Given the description of an element on the screen output the (x, y) to click on. 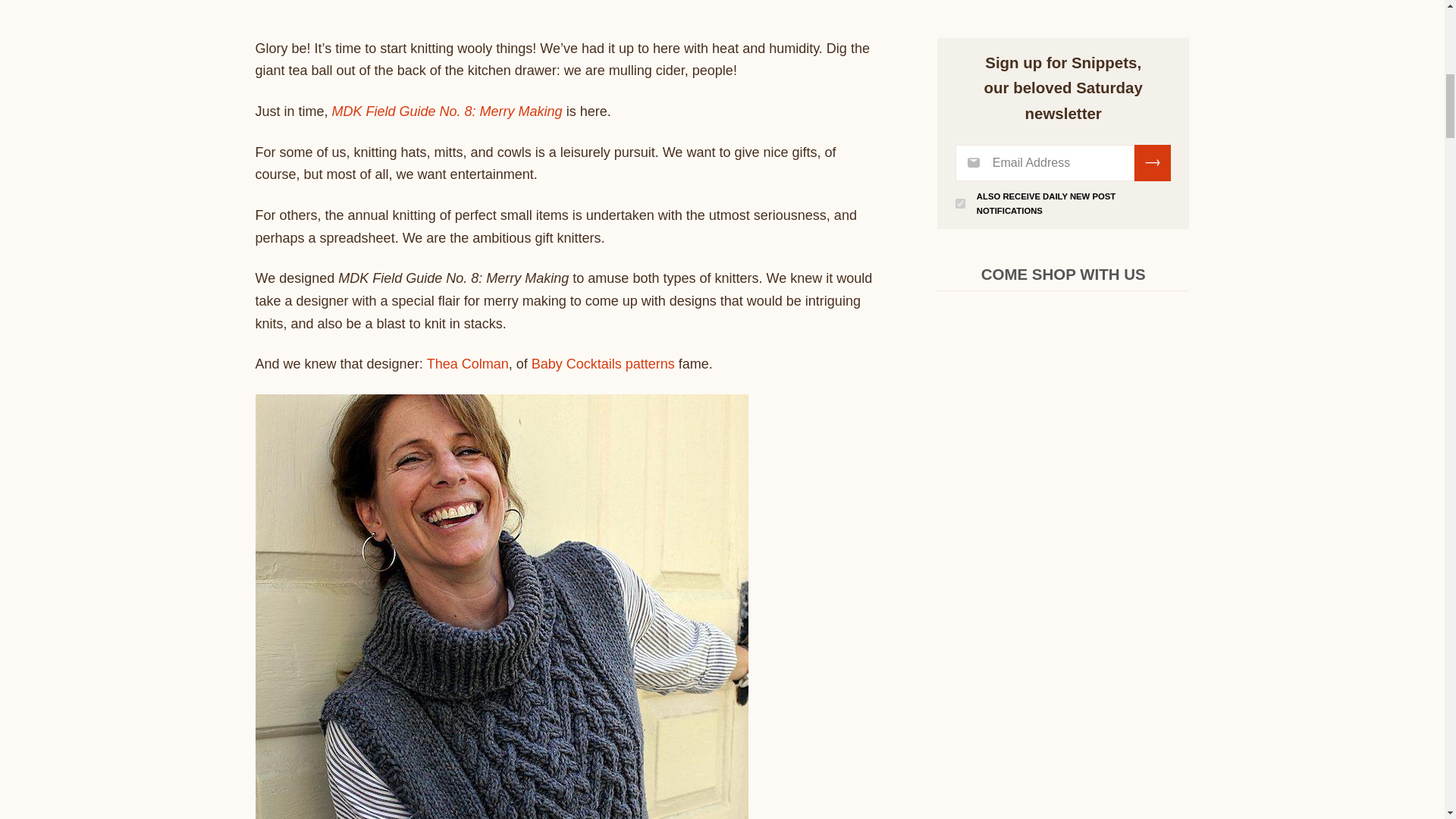
Submit (1152, 162)
Also receive daily new post notifications (960, 203)
